Given the description of an element on the screen output the (x, y) to click on. 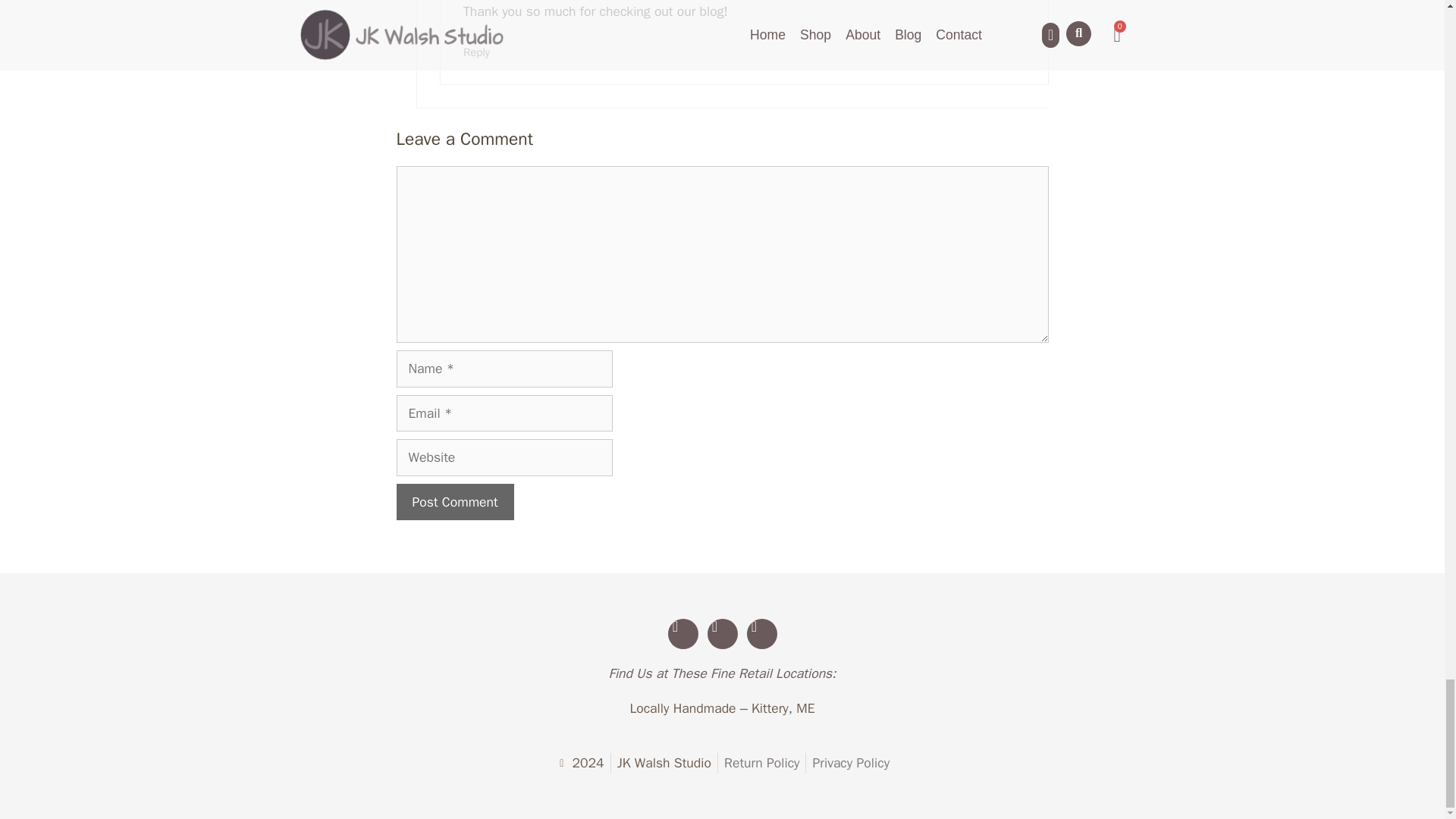
Post Comment (454, 502)
